Given the description of an element on the screen output the (x, y) to click on. 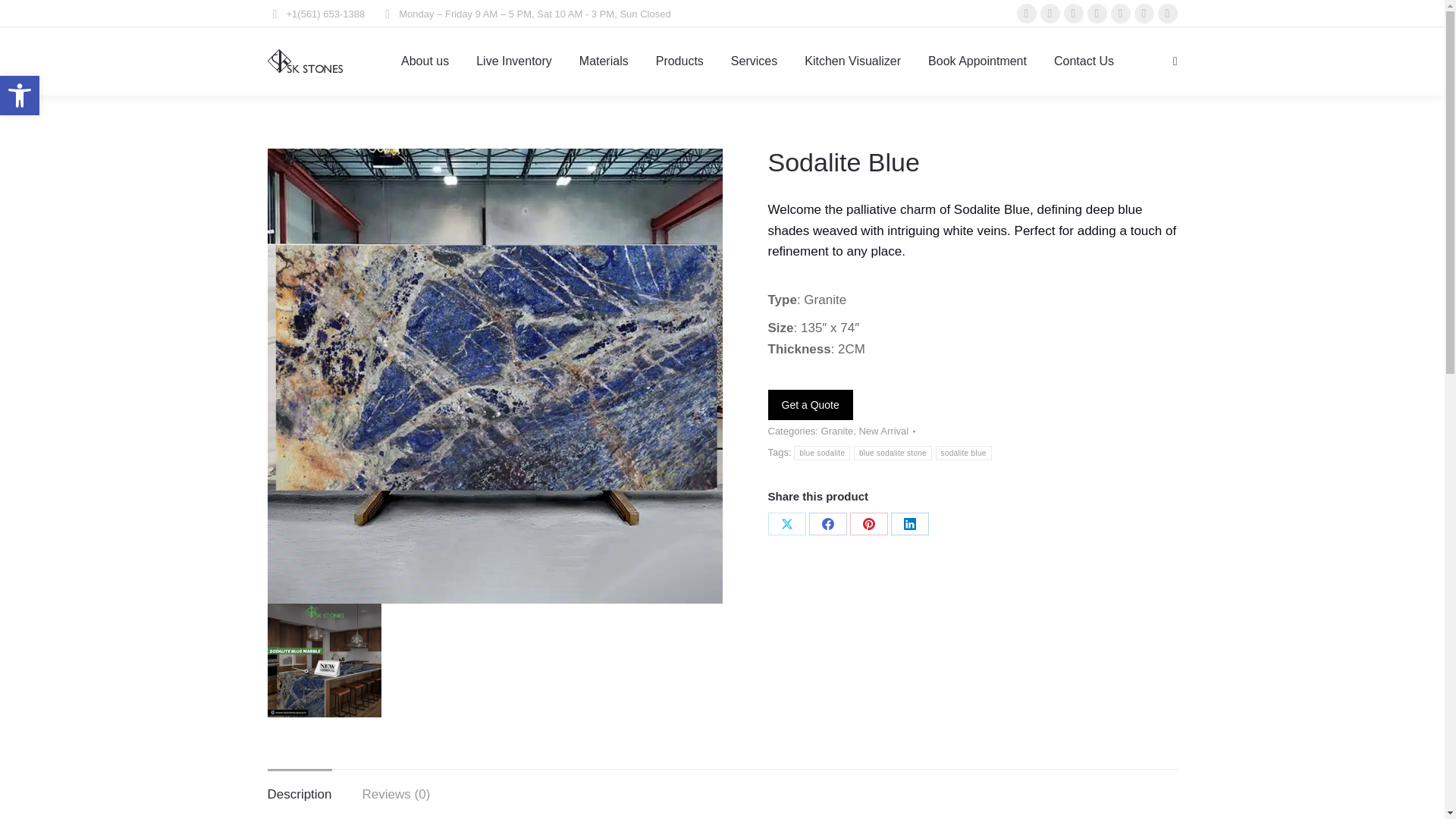
YouTube page opens in new window (1096, 13)
Accessibility Tools (19, 95)
Live Inventory (513, 60)
Pinterest page opens in new window (1119, 13)
Yelp page opens in new window (1166, 13)
Pinterest page opens in new window (1119, 13)
Products (679, 60)
Yelp page opens in new window (1166, 13)
Linkedin page opens in new window (1144, 13)
Linkedin page opens in new window (1144, 13)
YouTube page opens in new window (1096, 13)
X page opens in new window (1050, 13)
Materials (603, 60)
X page opens in new window (1050, 13)
Instagram page opens in new window (1072, 13)
